Given the description of an element on the screen output the (x, y) to click on. 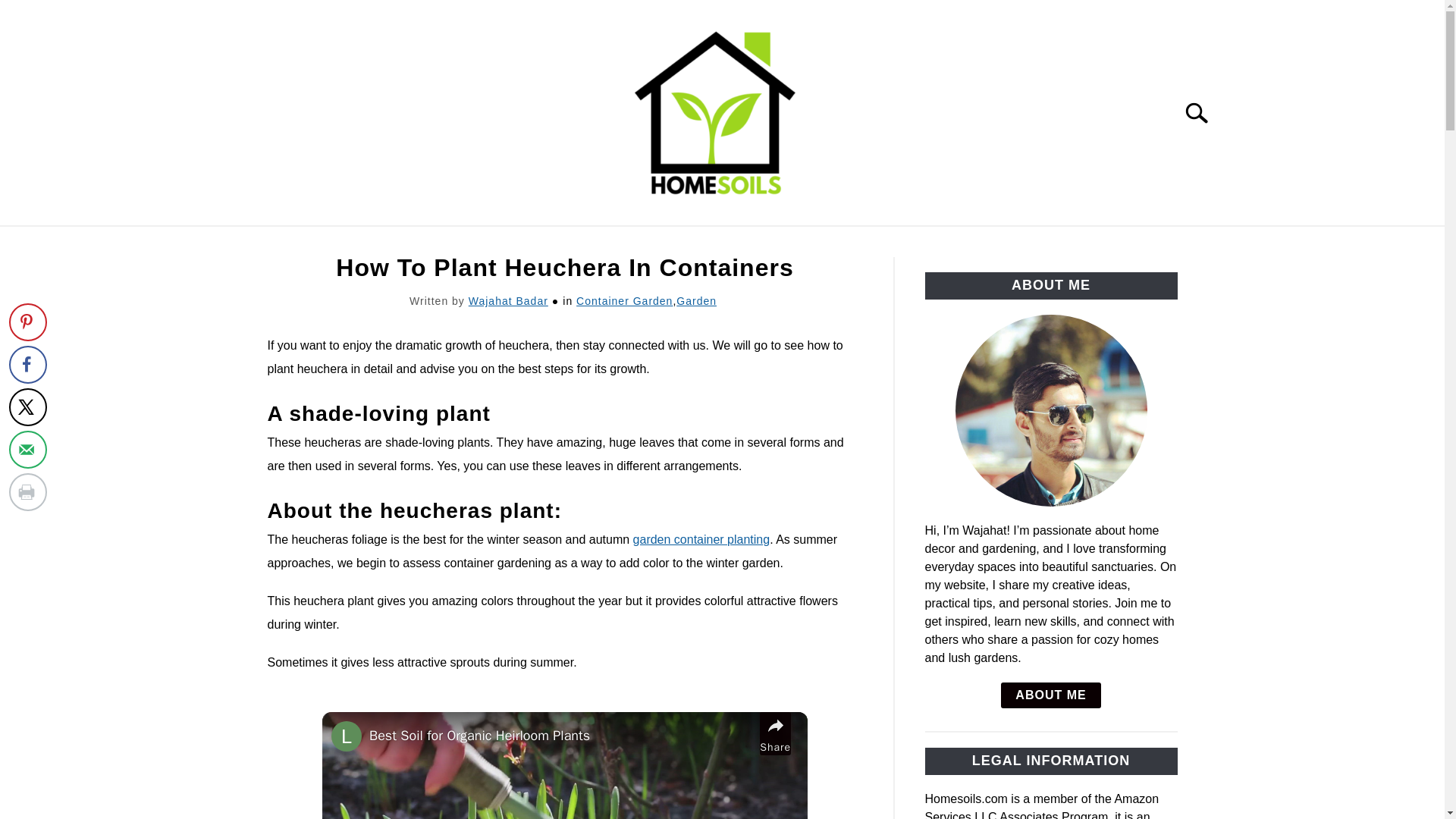
Send over email (27, 449)
Container Garden (624, 300)
Search (1203, 112)
SOIL (964, 243)
Wajahat Badar (508, 300)
GARDEN (887, 243)
Share on X (27, 406)
LIVING ROOM (779, 243)
BEDROOM (577, 243)
garden container planting (701, 539)
Garden (696, 300)
DECOR (487, 243)
Best Soil for Organic Heirloom Plants (560, 735)
KITCHEN (673, 243)
Print this webpage (27, 492)
